Given the description of an element on the screen output the (x, y) to click on. 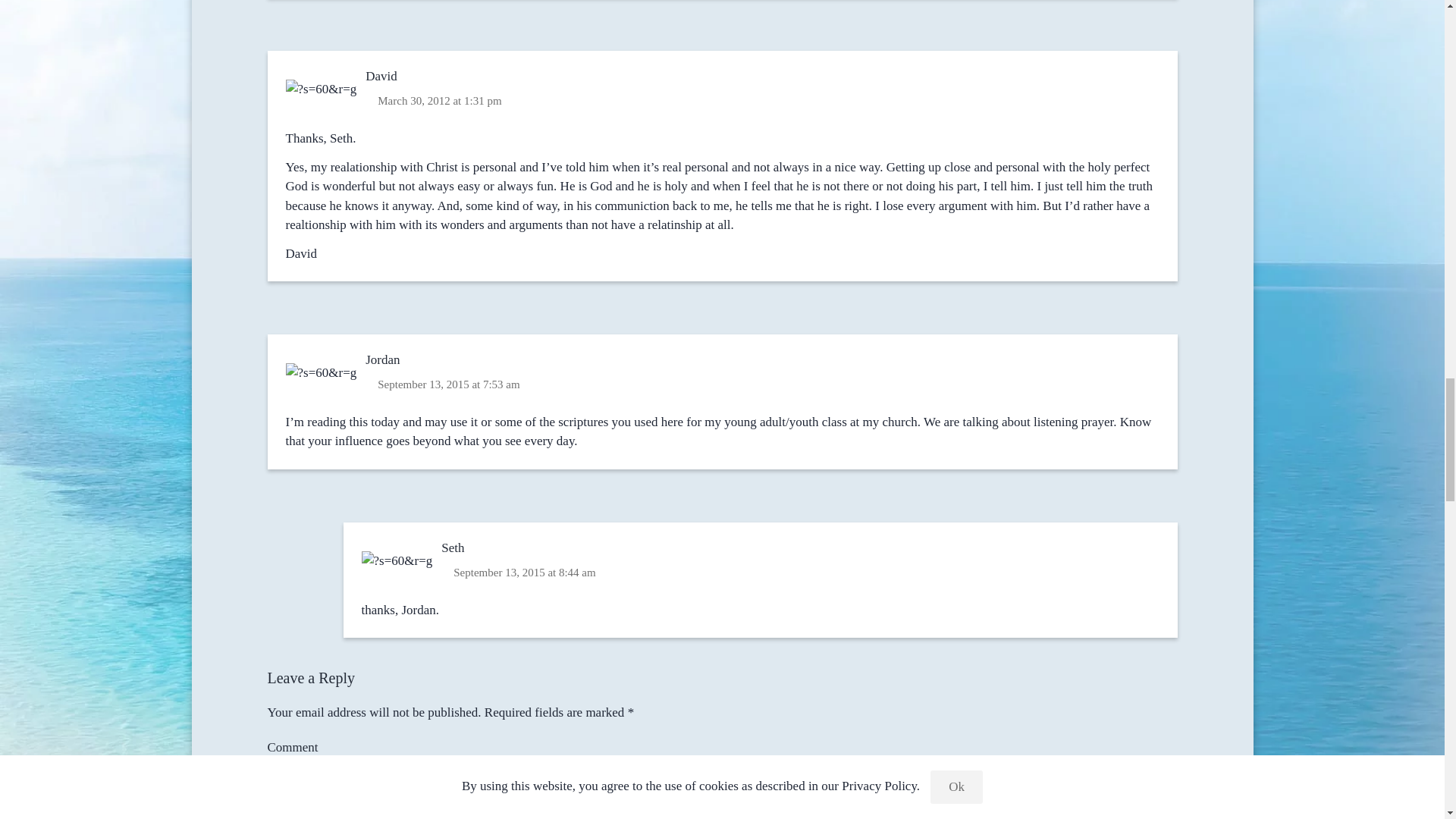
September 13, 2015 at 7:53 am (448, 383)
March 30, 2012 at 1:31 pm (439, 100)
Is your relationship with Christ personal? 4 (321, 89)
Is your relationship with Christ personal? 4 (321, 372)
Is your relationship with Christ personal? 4 (397, 560)
